Given the description of an element on the screen output the (x, y) to click on. 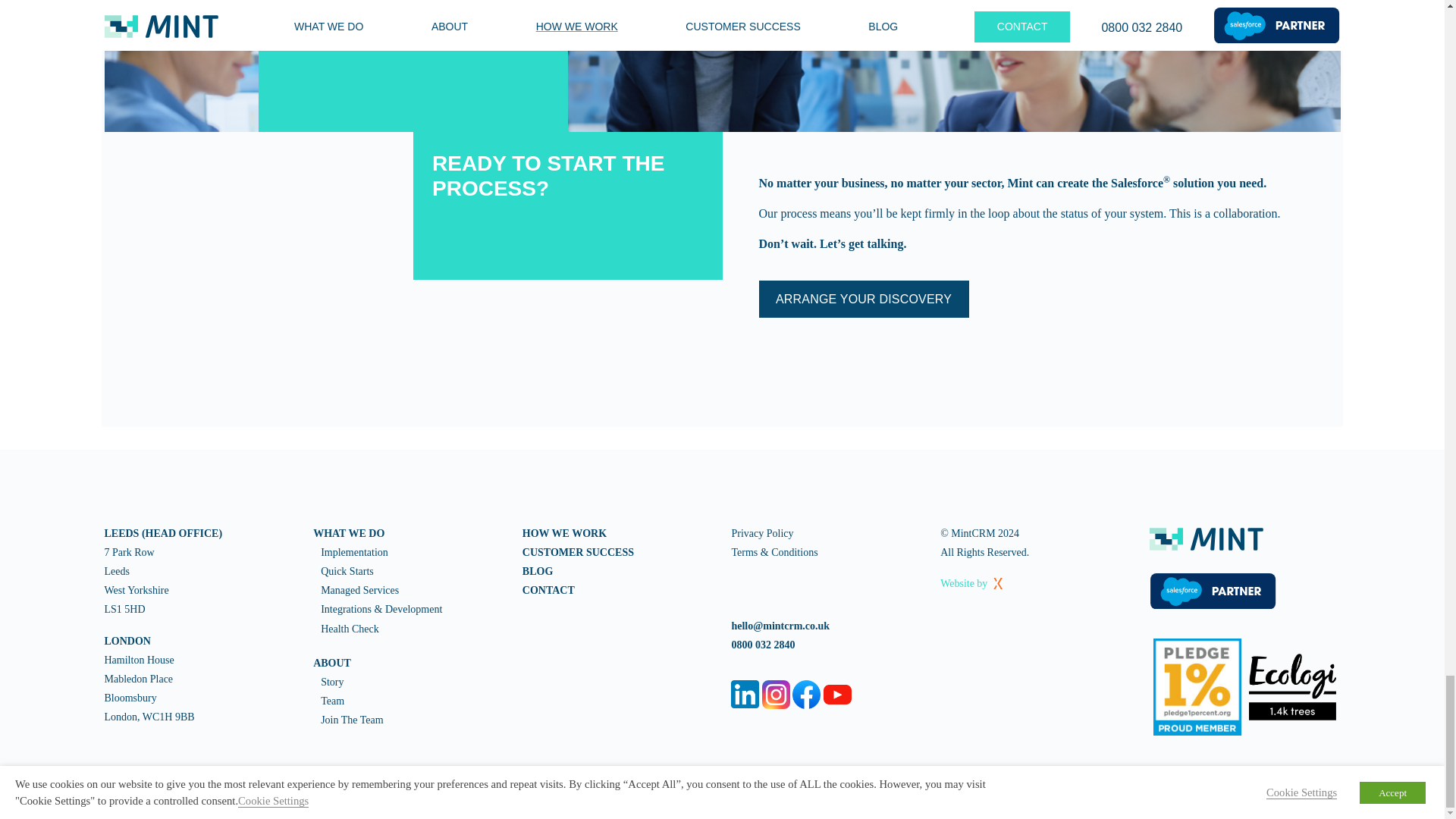
YouTube (837, 694)
View our Ecologi profile (1292, 686)
Linked In (744, 694)
Instagram (775, 694)
Facebook (806, 694)
ARRANGE YOUR DISCOVERY (863, 299)
